Given the description of an element on the screen output the (x, y) to click on. 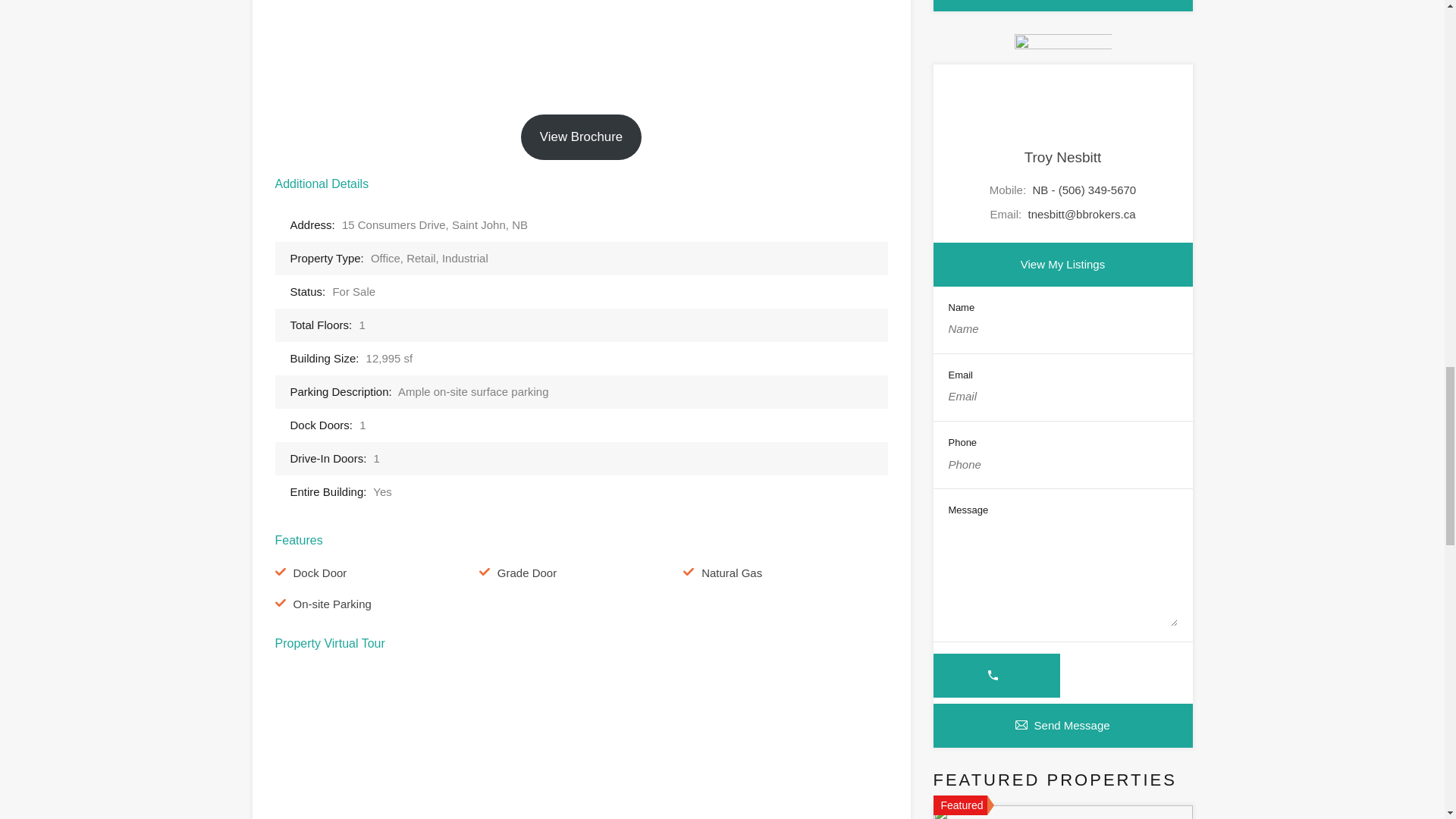
On-site Parking (331, 603)
Natural Gas (731, 572)
View Brochure (580, 136)
Dock Door (319, 572)
Grade Door (526, 572)
